Given the description of an element on the screen output the (x, y) to click on. 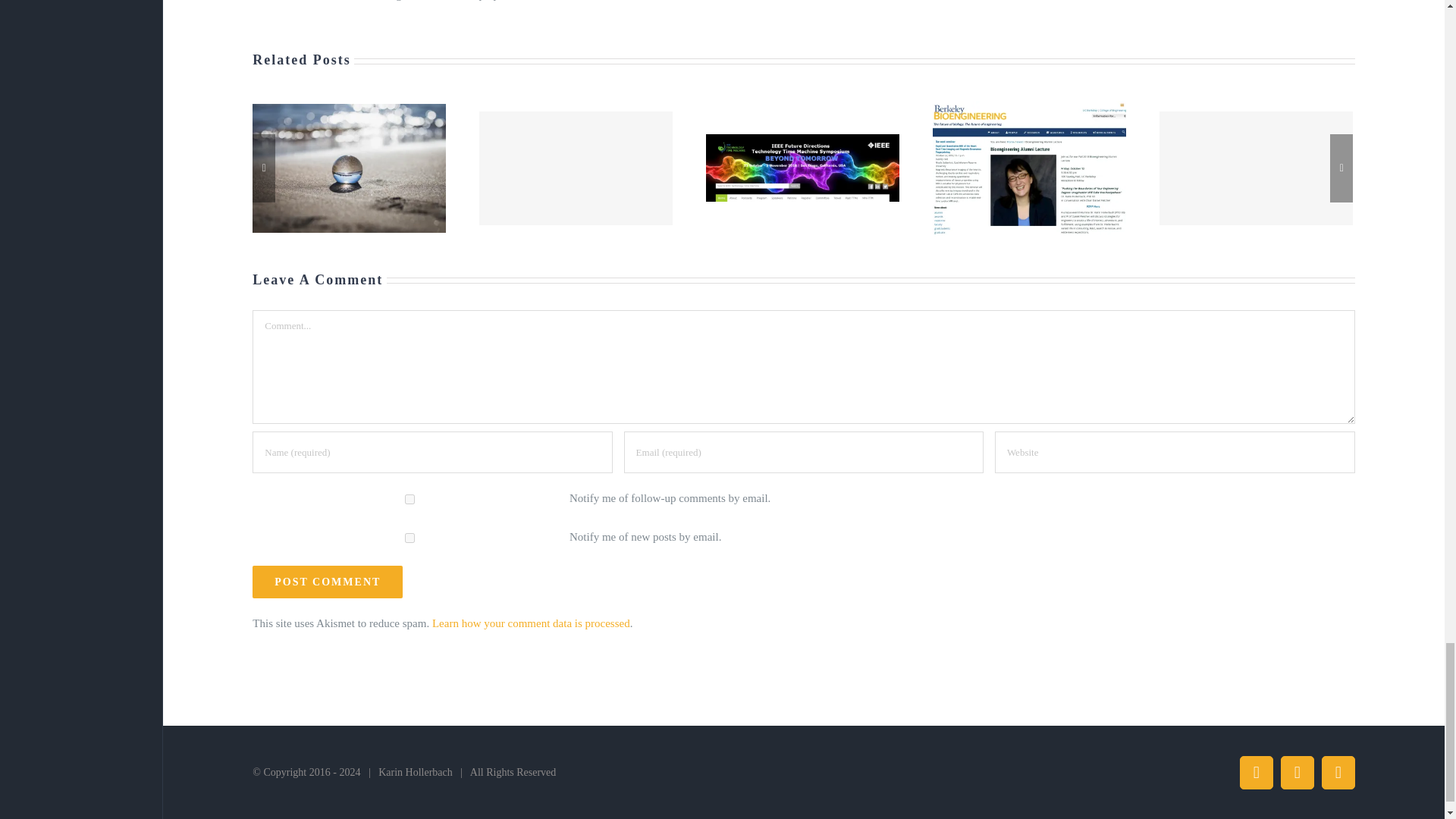
subscribe (410, 537)
Post Comment (327, 581)
subscribe (410, 499)
